Given the description of an element on the screen output the (x, y) to click on. 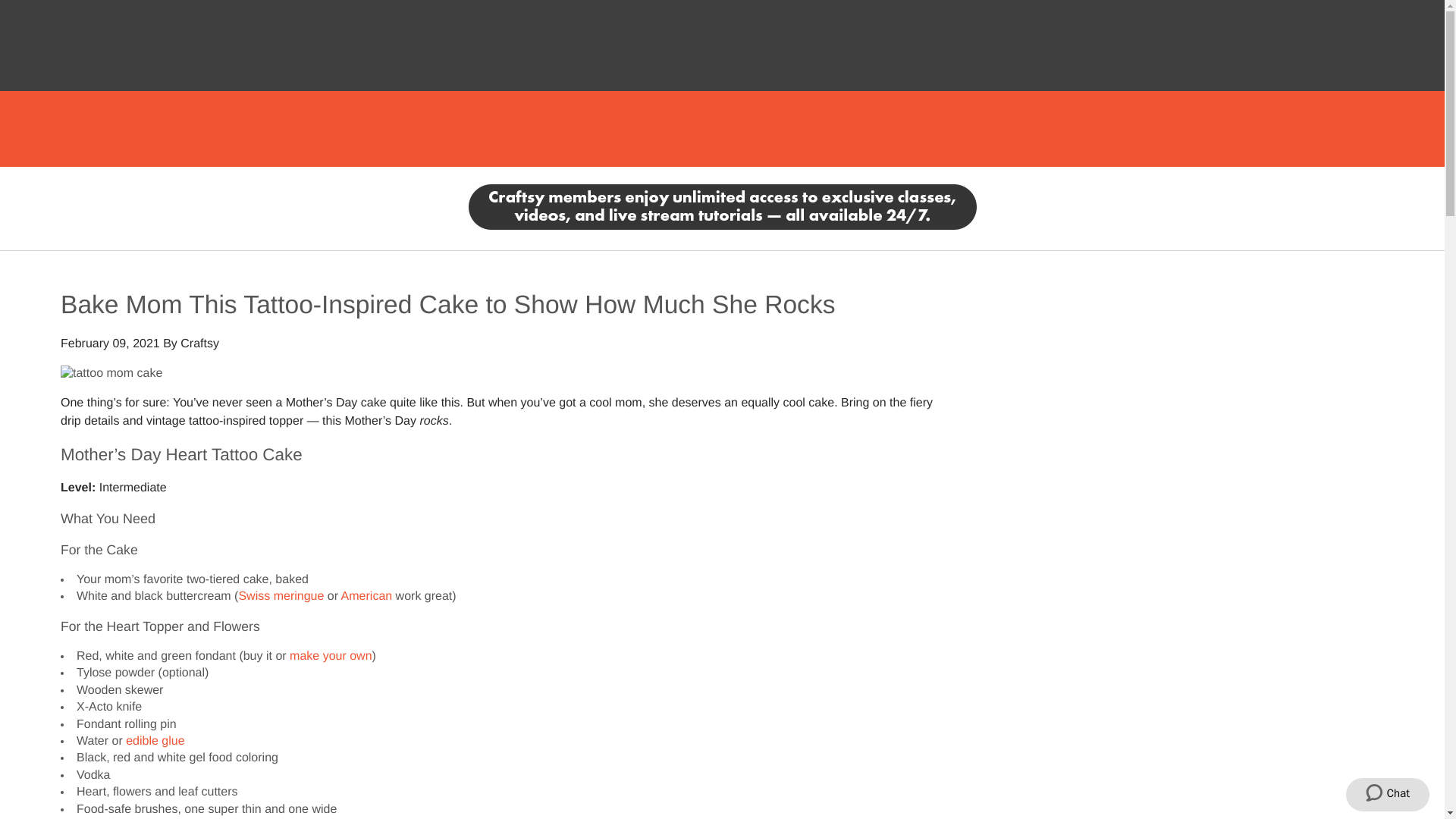
Swiss meringue (280, 595)
make your own (330, 656)
Craftsy (199, 343)
edible glue (154, 740)
American (366, 595)
